Given the description of an element on the screen output the (x, y) to click on. 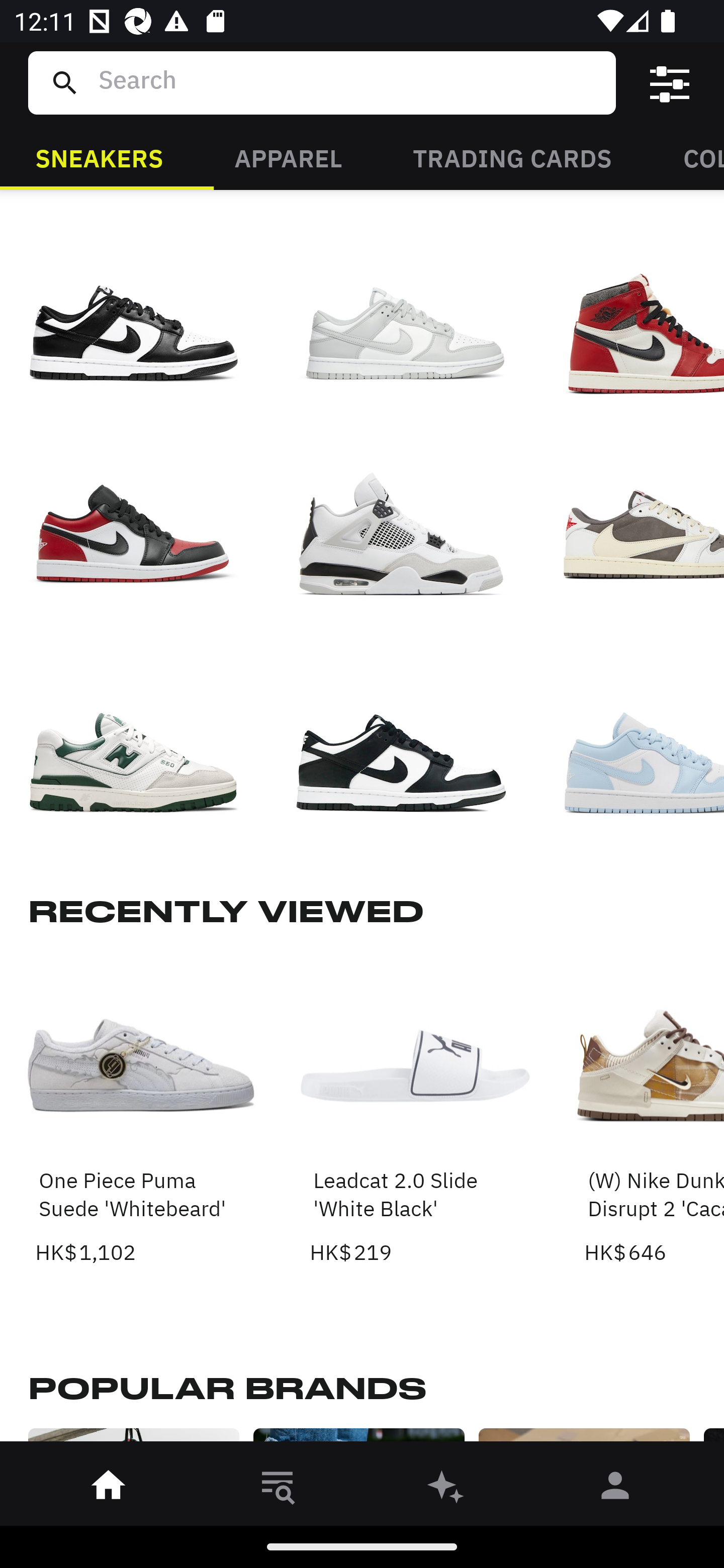
Search (349, 82)
 (669, 82)
SNEAKERS (99, 156)
APPAREL (287, 156)
TRADING CARDS (512, 156)
One Piece Puma Suede 'Whitebeard' HK$ 1,102 (140, 1109)
Leadcat 2.0 Slide 'White Black' HK$ 219 (414, 1109)
󰋜 (108, 1488)
󱎸 (277, 1488)
󰫢 (446, 1488)
󰀄 (615, 1488)
